Given the description of an element on the screen output the (x, y) to click on. 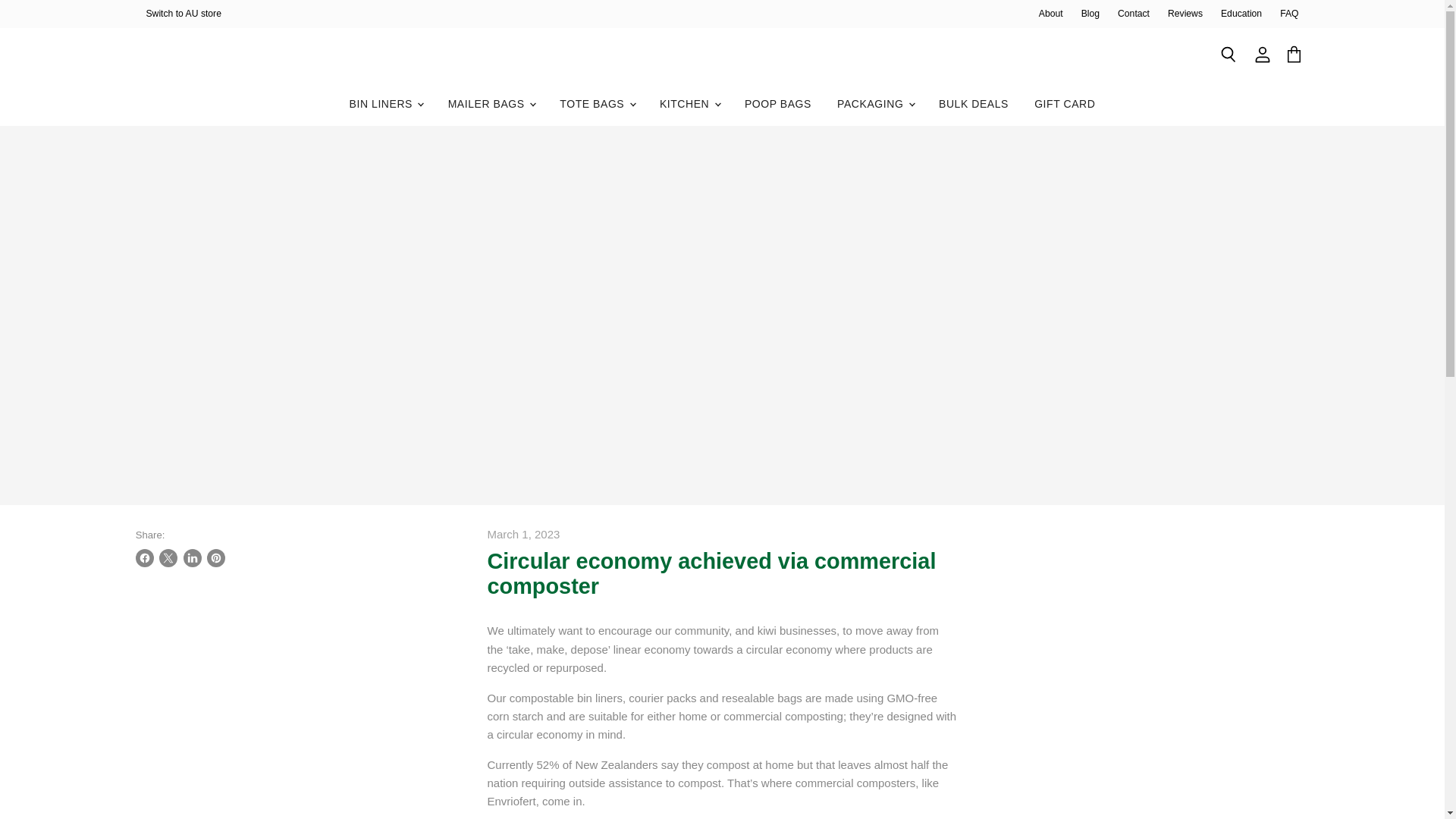
Switch to AU store (183, 13)
FAQ (1288, 13)
KITCHEN (688, 103)
Education (1241, 13)
MAILER BAGS (491, 103)
View cart (1293, 54)
Contact (1134, 13)
BIN LINERS (385, 103)
TOTE BAGS (596, 103)
About (1050, 13)
Blog (1090, 13)
View account (1262, 54)
Search (1227, 54)
Reviews (1184, 13)
